Given the description of an element on the screen output the (x, y) to click on. 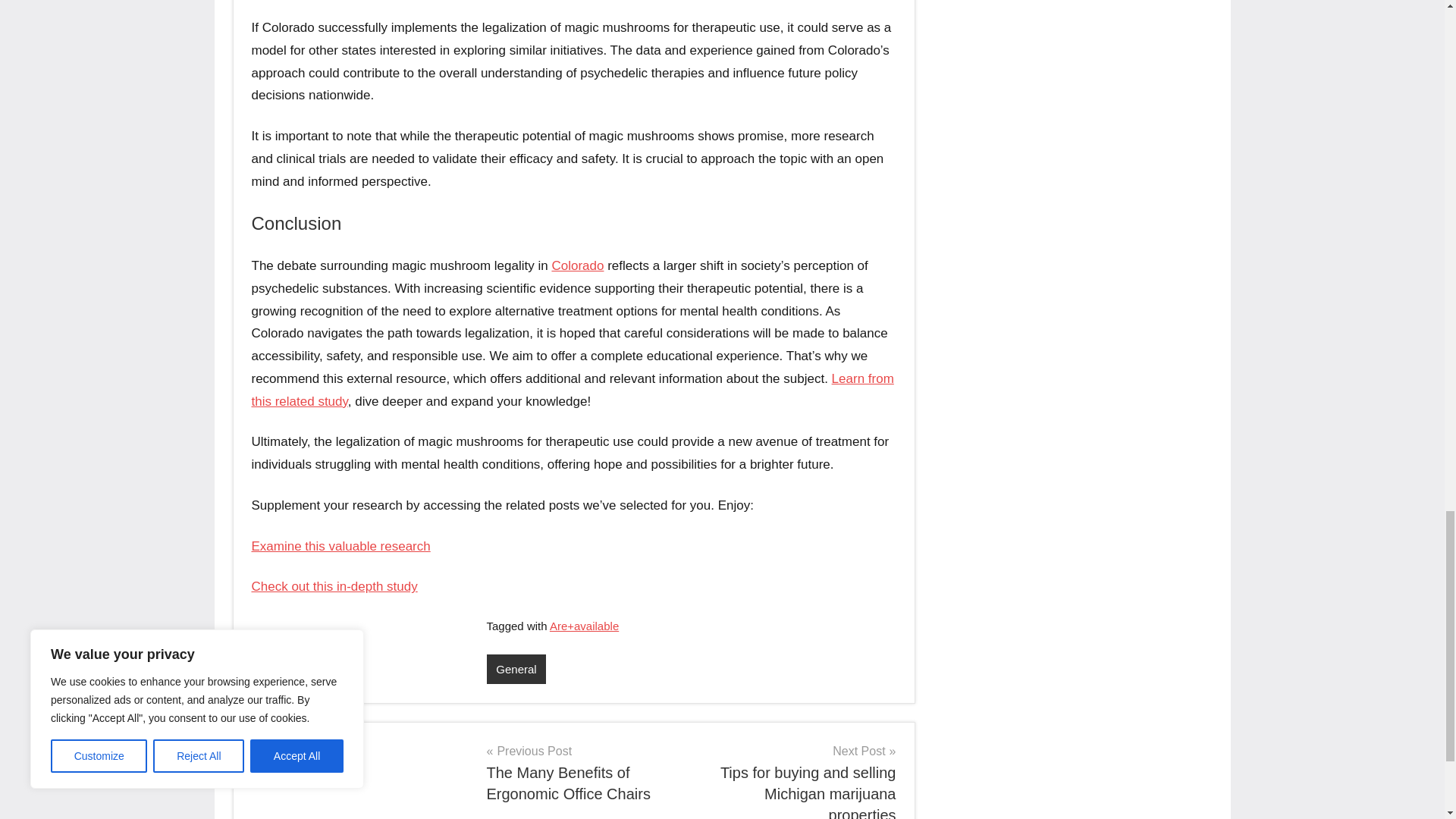
Check out this in-depth study (334, 586)
General (516, 668)
Examine this valuable research (582, 772)
Learn from this related study (340, 545)
Colorado (572, 389)
